Given the description of an element on the screen output the (x, y) to click on. 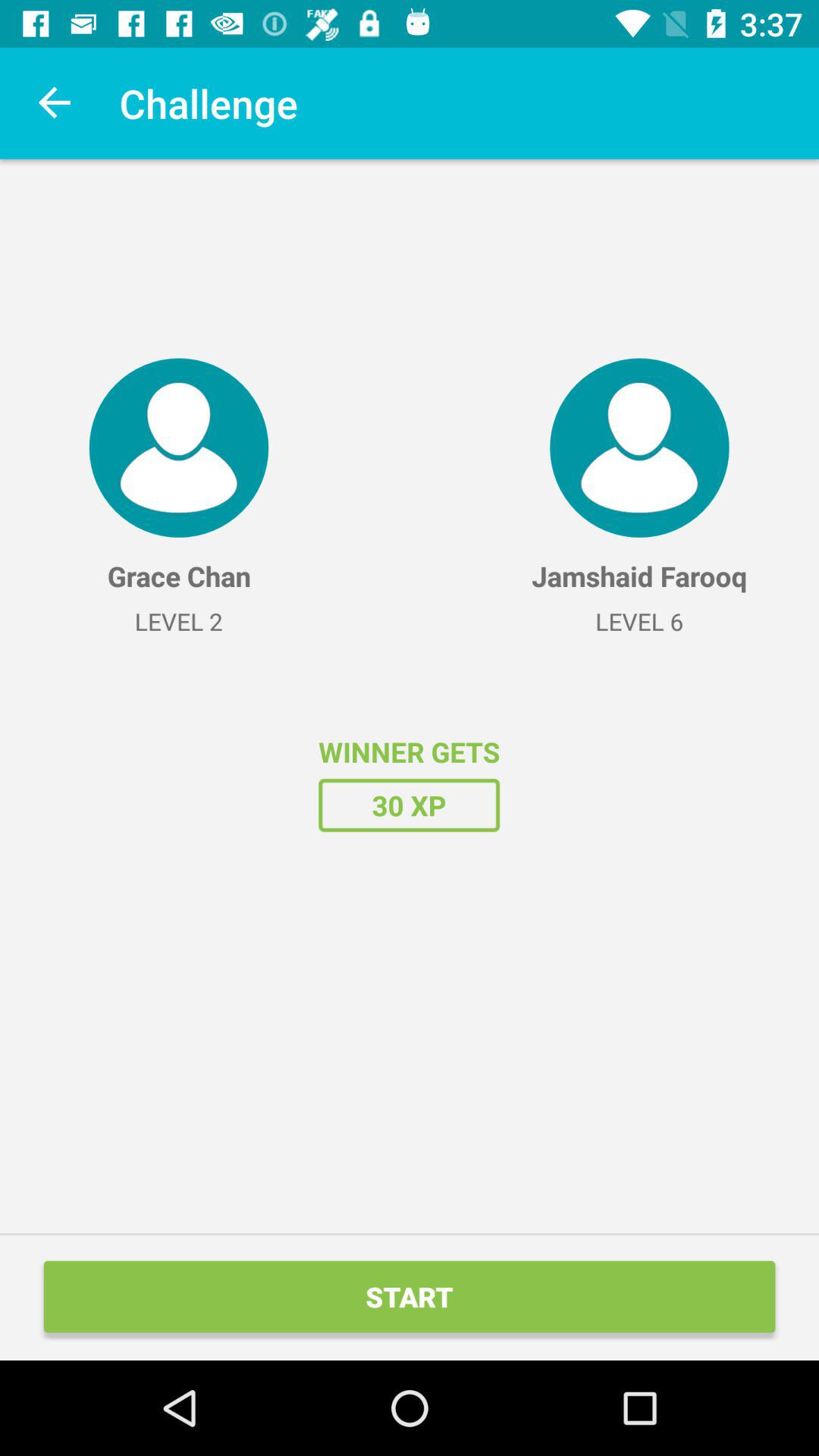
press the start icon (409, 1296)
